Given the description of an element on the screen output the (x, y) to click on. 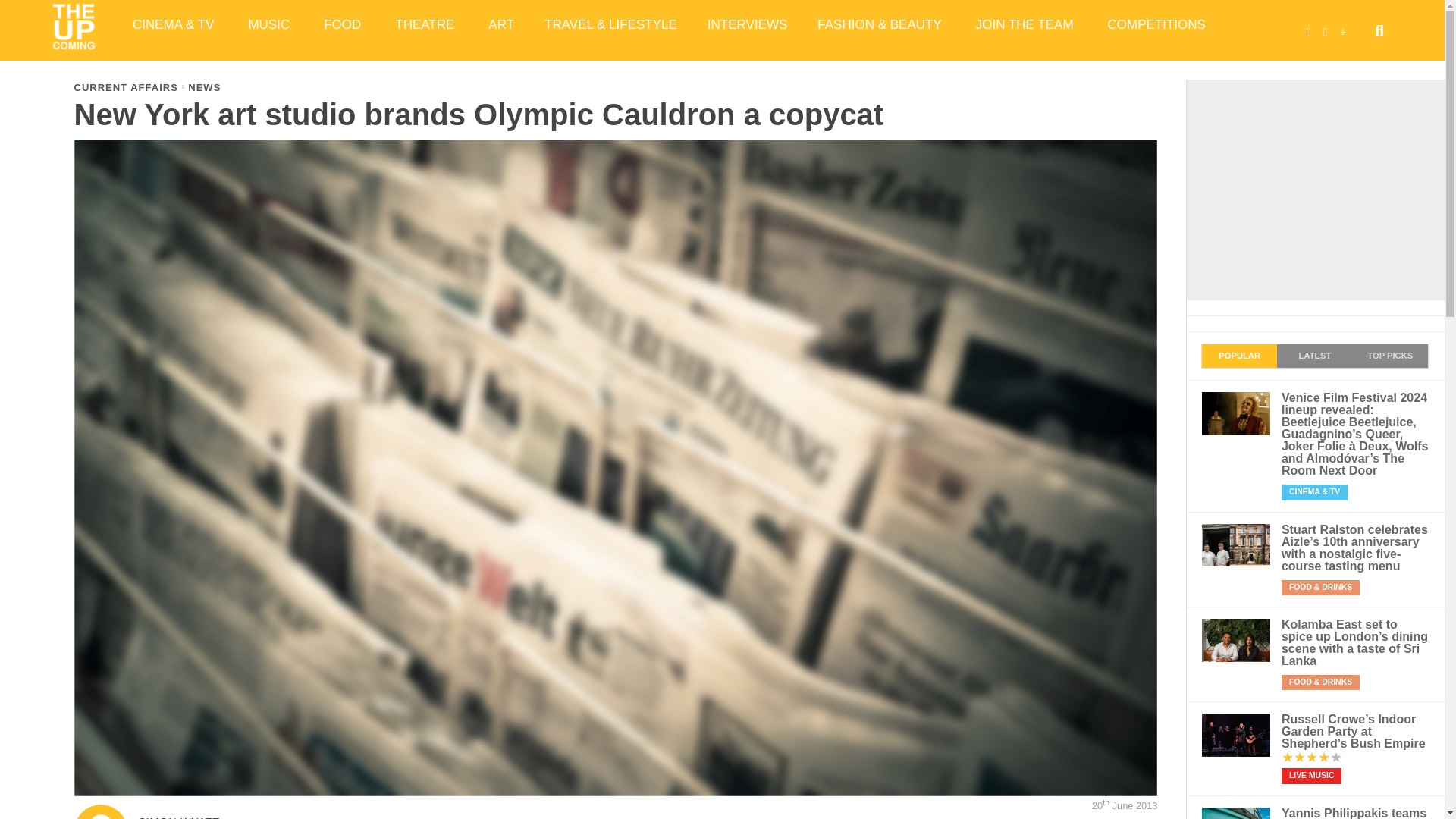
ART (501, 24)
THEATRE (426, 24)
MUSIC (270, 24)
FOOD (344, 24)
JOIN THE TEAM (1026, 24)
INTERVIEWS (747, 24)
